Given the description of an element on the screen output the (x, y) to click on. 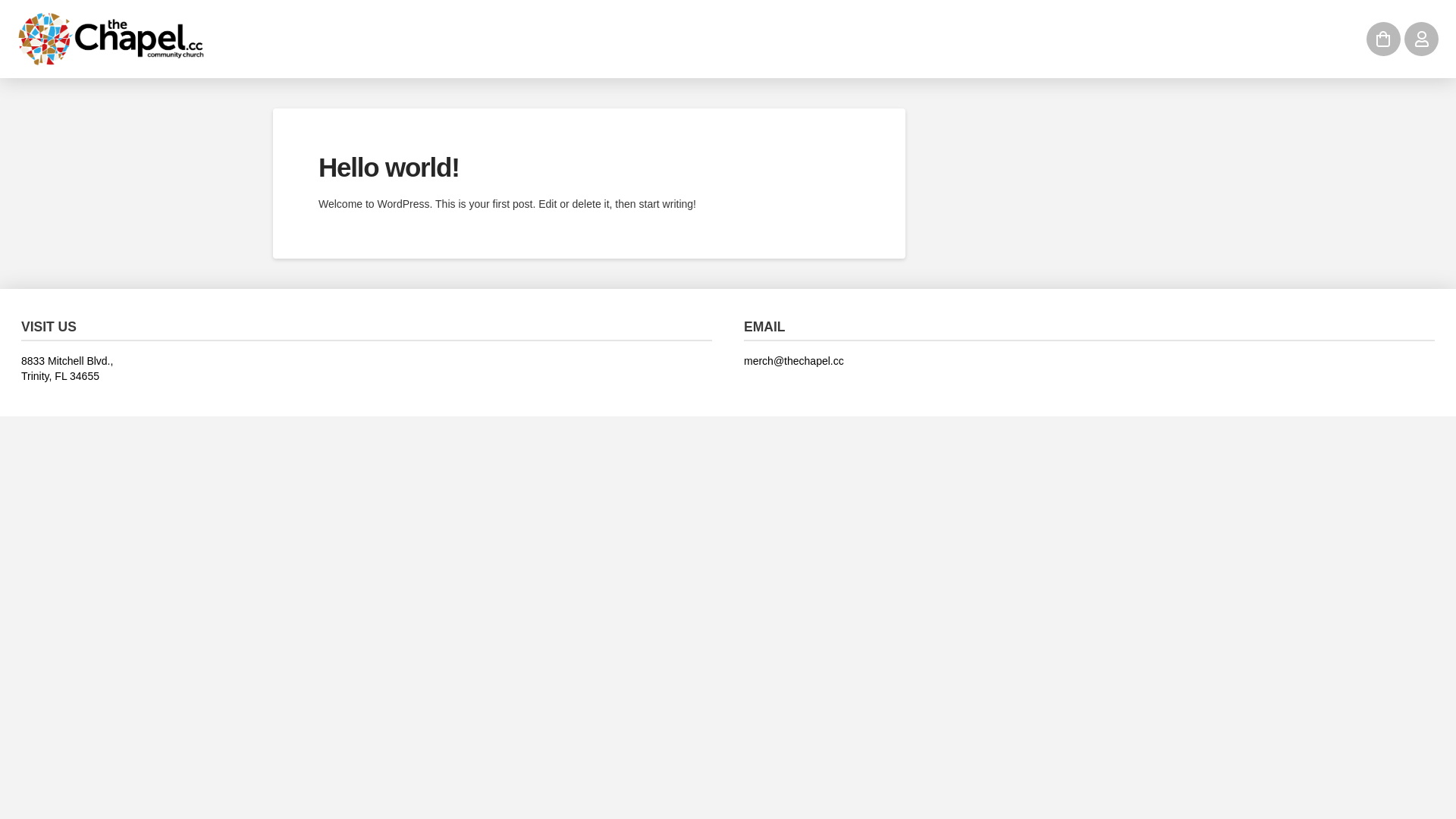
merch@thechapel.cc Element type: text (1088, 361)
Hello world! Element type: text (388, 167)
8833 Mitchell Blvd.,
Trinity, FL 34655 Element type: text (366, 368)
